Given the description of an element on the screen output the (x, y) to click on. 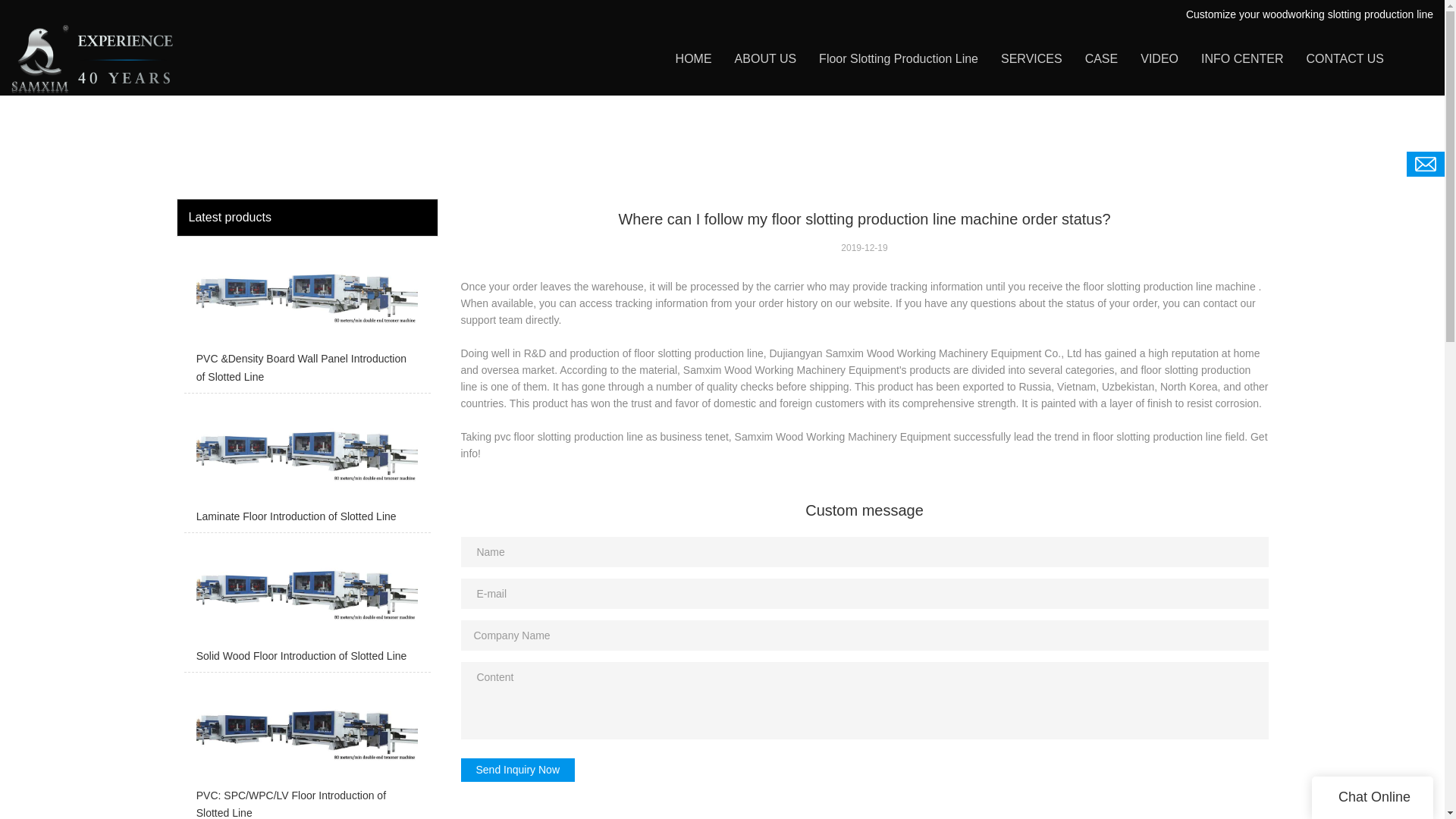
Solid Wood Floor Slotting Production Line Machinery (704, 308)
Floor Slotting Production Line (898, 58)
PVC Floor Slotting Production Line Machinery (688, 287)
Solid Wood Floor Introduction of Slotted Line (306, 605)
Send Inquiry Now (518, 770)
Laminate Floor Introduction of Slotted Line (306, 466)
Video (223, 350)
Info center (234, 372)
About us (230, 287)
Laminate Floor Slotting Production Line Machinery (699, 329)
CONTACT US (1345, 58)
INFO CENTER (1241, 58)
Services (229, 308)
Case (221, 329)
